Given the description of an element on the screen output the (x, y) to click on. 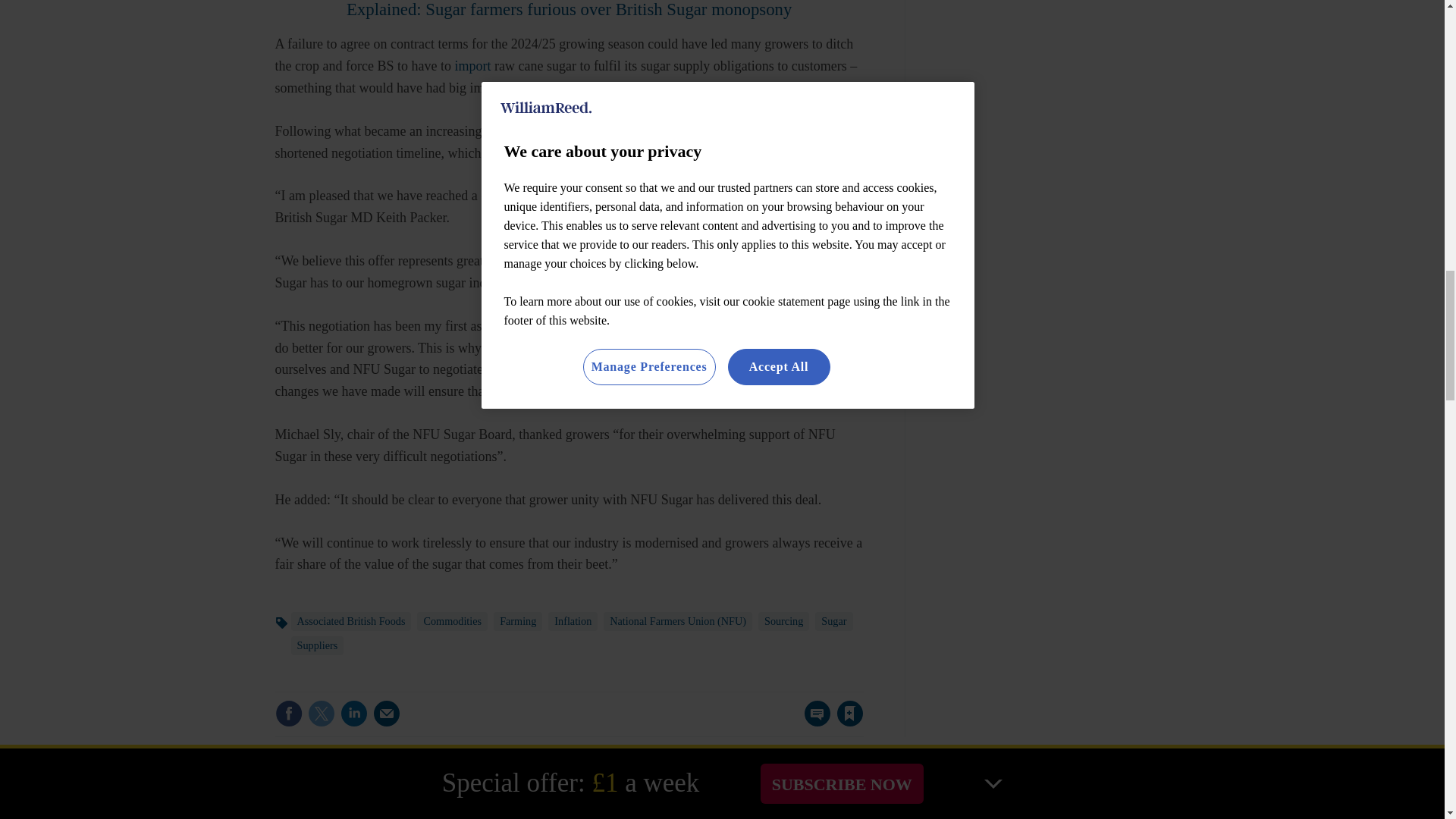
Share this on Linked in (352, 713)
Email this article (386, 713)
Share this on Facebook (288, 713)
No comments (812, 722)
Share this on Twitter (320, 713)
